Given the description of an element on the screen output the (x, y) to click on. 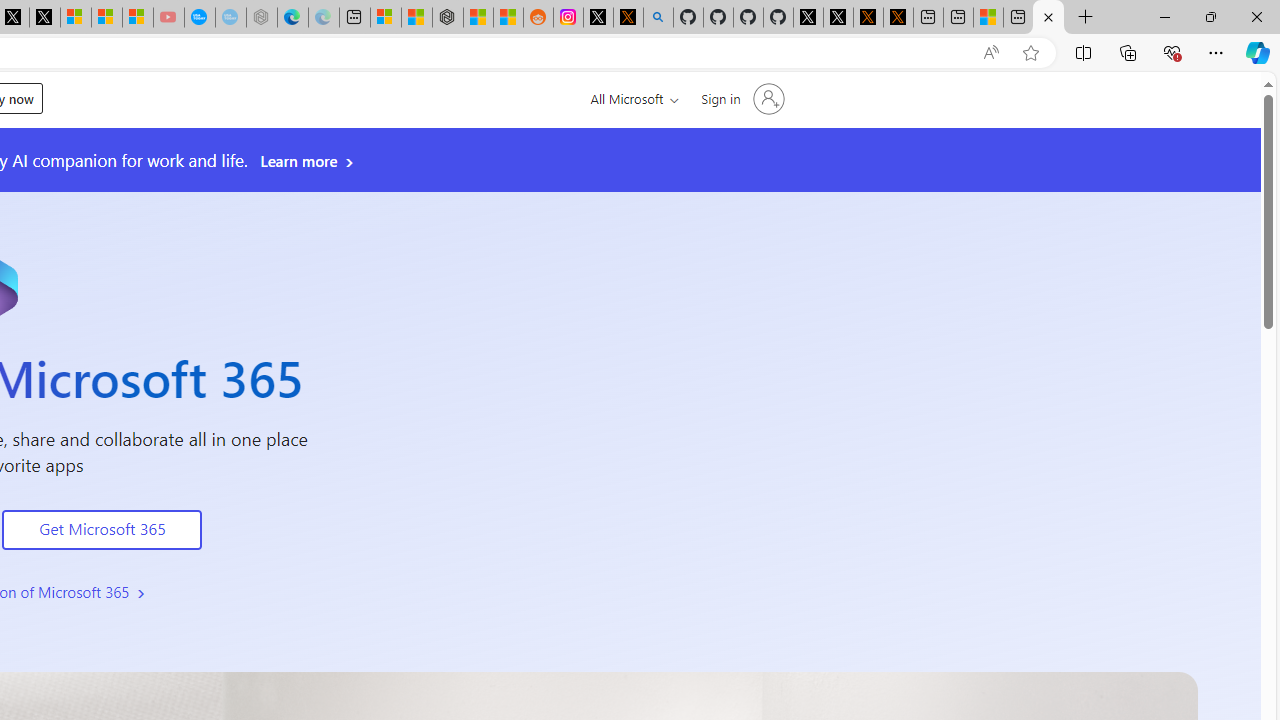
Opinion: Op-Ed and Commentary - USA TODAY (200, 17)
Login | Microsoft 365 (1048, 17)
Microsoft account | Microsoft Account Privacy Settings (385, 17)
Get Microsoft 365 (102, 529)
Nordace - Nordace has arrived Hong Kong - Sleeping (261, 17)
Nordace - Duffels (447, 17)
The most popular Google 'how to' searches - Sleeping (230, 17)
